Given the description of an element on the screen output the (x, y) to click on. 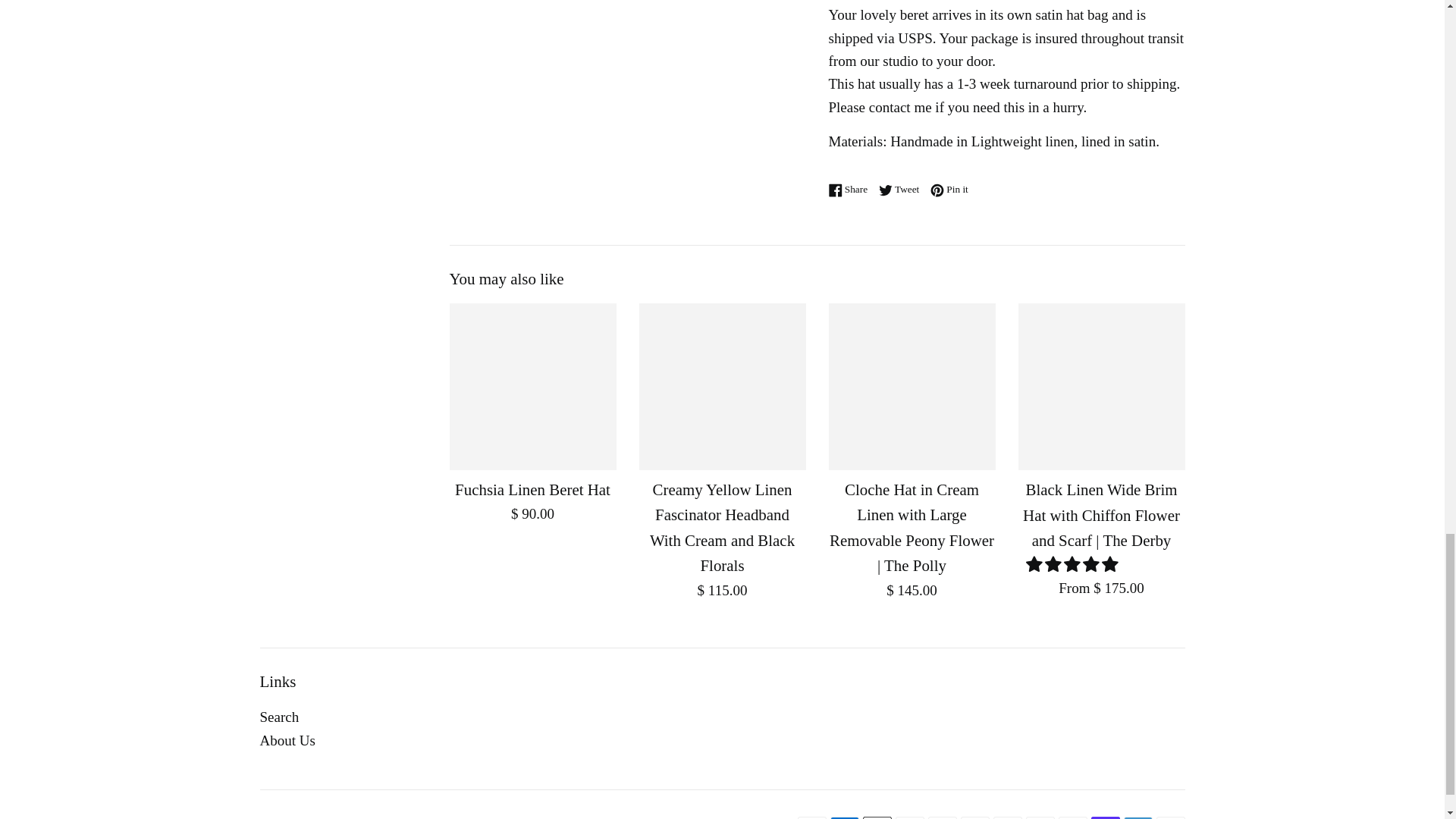
Diners Club (909, 817)
Shop Pay (1104, 817)
American Express (844, 817)
Google Pay (1007, 817)
Apple Pay (877, 817)
Amazon (812, 817)
Pin on Pinterest (949, 188)
Tweet on Twitter (902, 188)
Fuchsia Linen Beret Hat (531, 386)
Venmo (1138, 817)
